Given the description of an element on the screen output the (x, y) to click on. 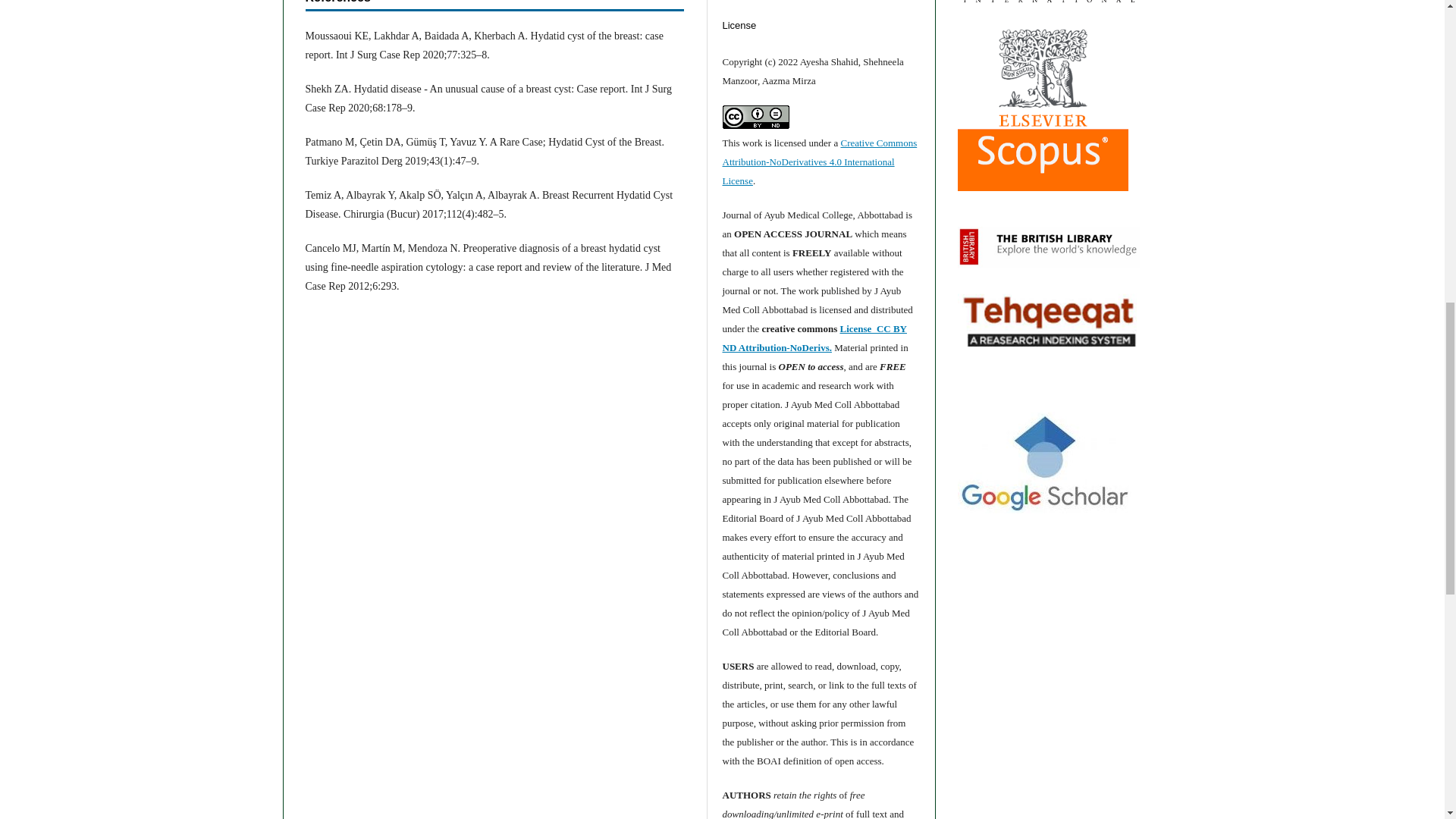
License  CC BY ND Attribution-NoDerivs. (813, 337)
